Given the description of an element on the screen output the (x, y) to click on. 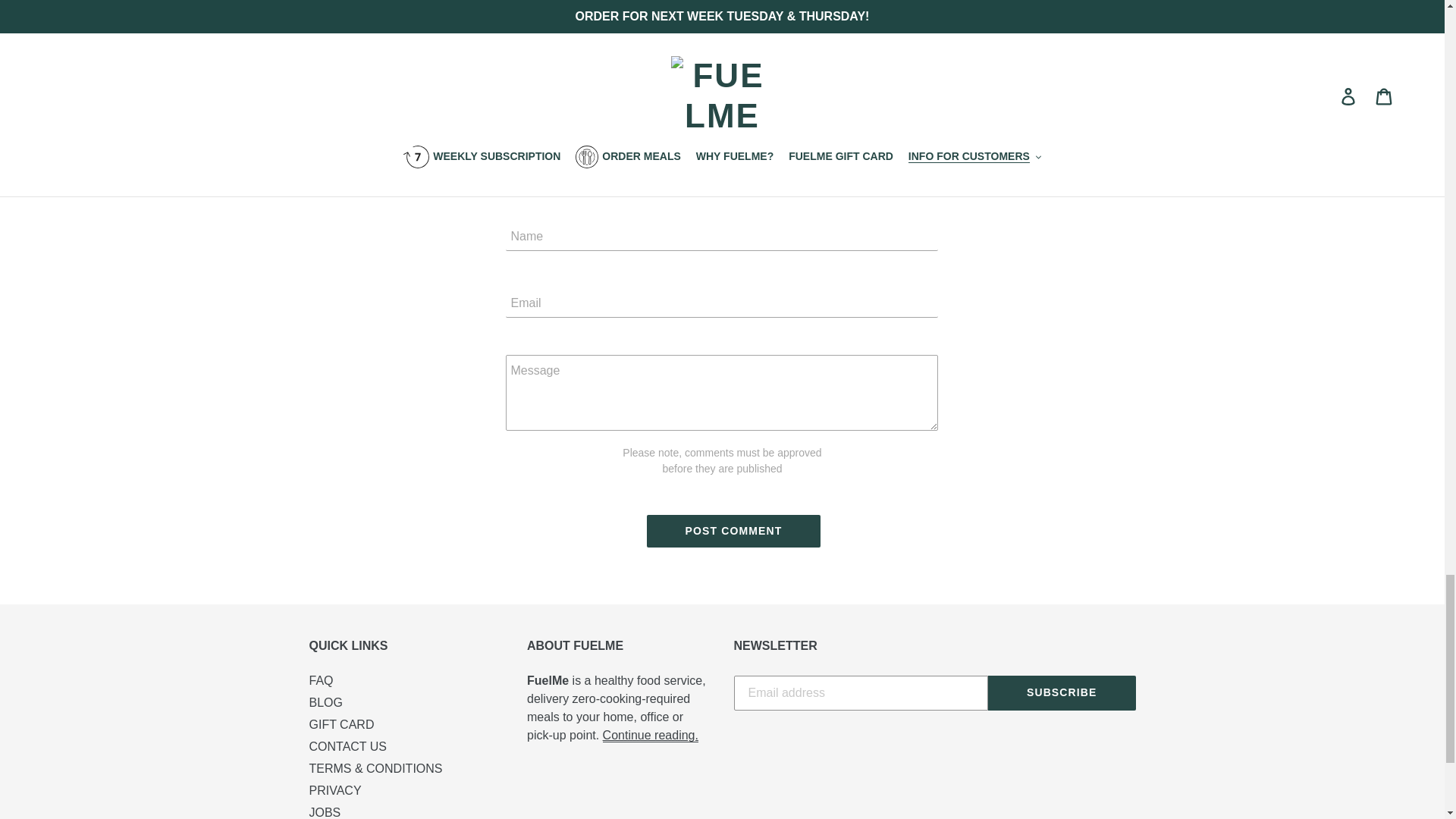
BLOG (325, 702)
FAQ (320, 680)
Post comment (733, 531)
Post comment (733, 531)
Why FuelMe? (650, 735)
